Given the description of an element on the screen output the (x, y) to click on. 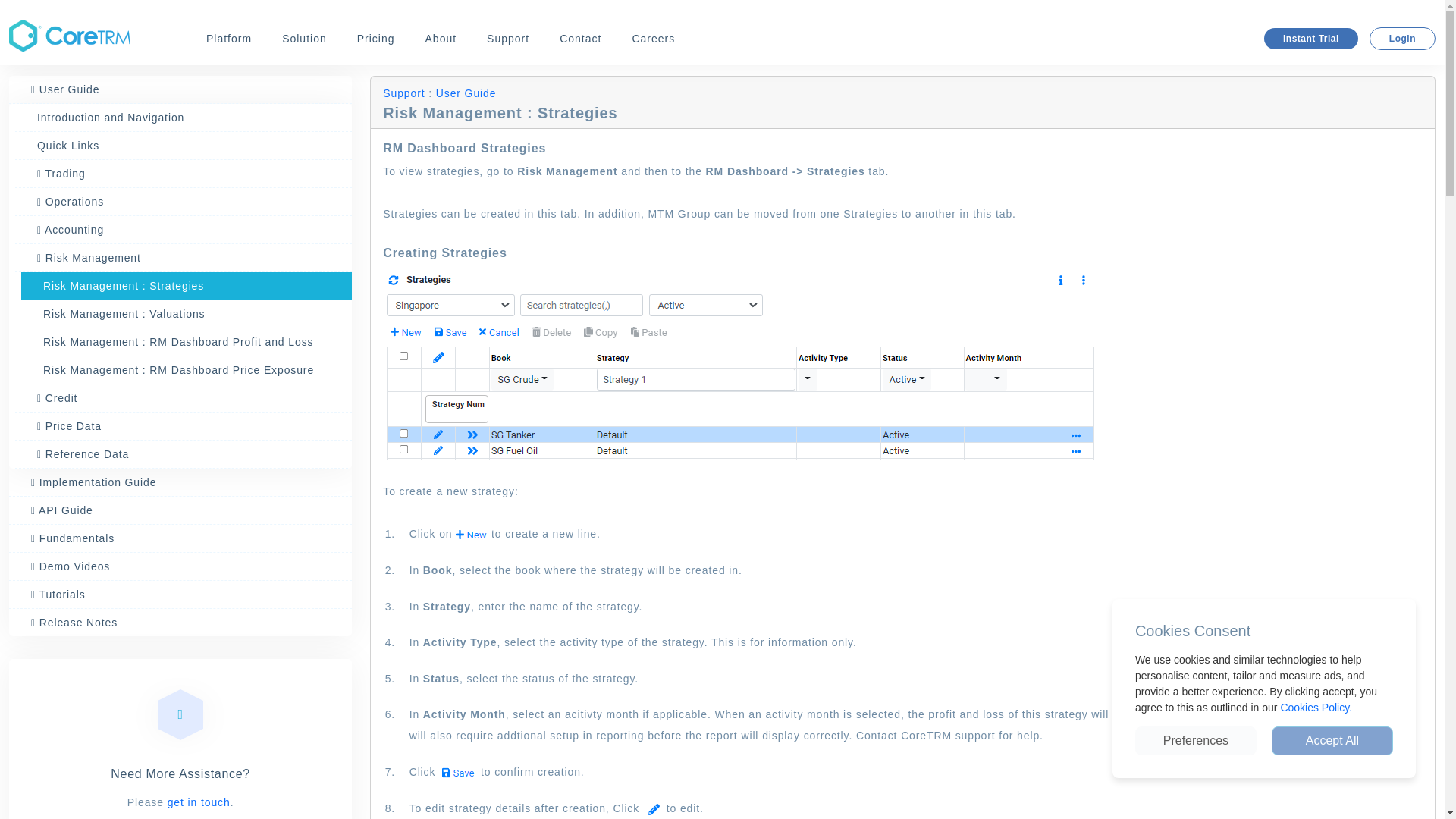
Platform (228, 38)
Login (1402, 38)
Trading (183, 173)
Accept All (1332, 740)
Pricing (375, 38)
About (441, 38)
Preferences (1195, 740)
Operations (183, 202)
Introduction and Navigation (183, 117)
User Guide (180, 90)
Support (507, 38)
Careers (653, 38)
Cookies Policy. (1315, 707)
Instant Trial (1310, 38)
Contact (580, 38)
